Given the description of an element on the screen output the (x, y) to click on. 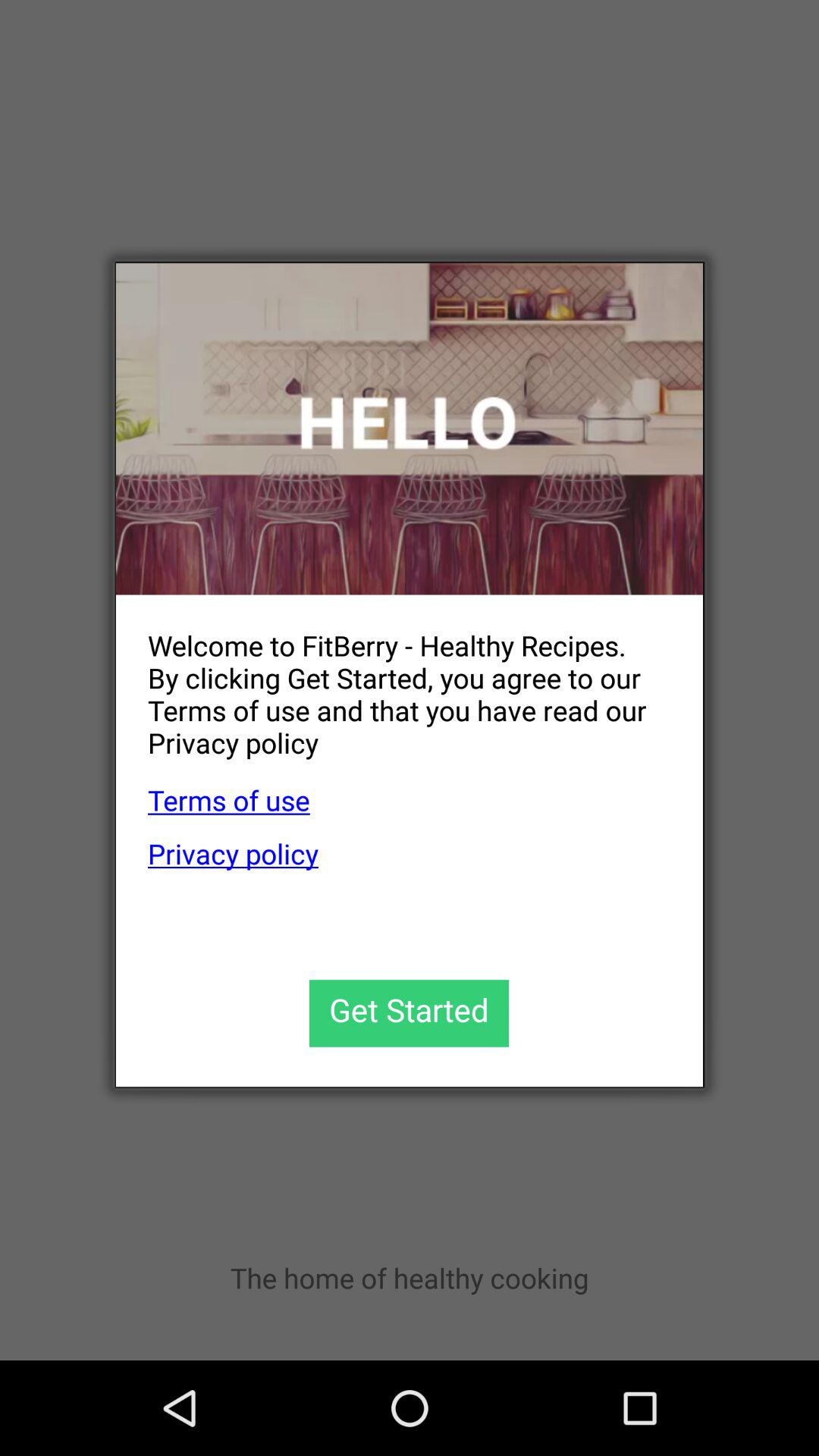
get started (409, 1013)
